Given the description of an element on the screen output the (x, y) to click on. 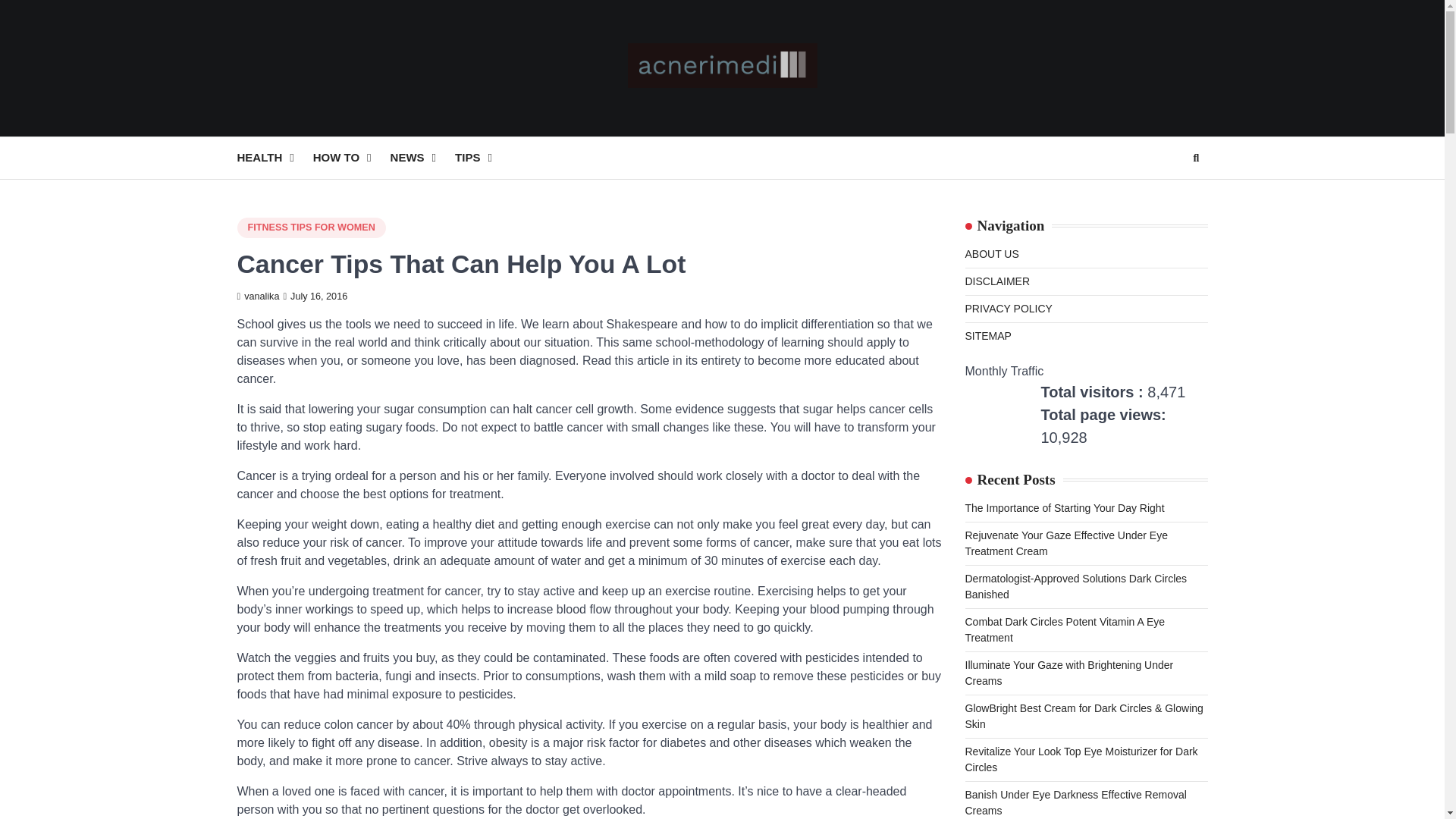
SITEMAP (986, 336)
PRIVACY POLICY (1007, 308)
Combat Dark Circles Potent Vitamin A Eye Treatment (1063, 629)
HEALTH (274, 158)
NEWS (422, 158)
Search (1196, 158)
Illuminate Your Gaze with Brightening Under Creams (1068, 673)
FITNESS TIPS FOR WOMEN (310, 227)
Search (1168, 194)
DISCLAIMER (996, 281)
vanalika (257, 296)
HOW TO (351, 158)
The Importance of Starting Your Day Right (1063, 508)
July 16, 2016 (314, 296)
Dermatologist-Approved Solutions Dark Circles Banished (1074, 586)
